Given the description of an element on the screen output the (x, y) to click on. 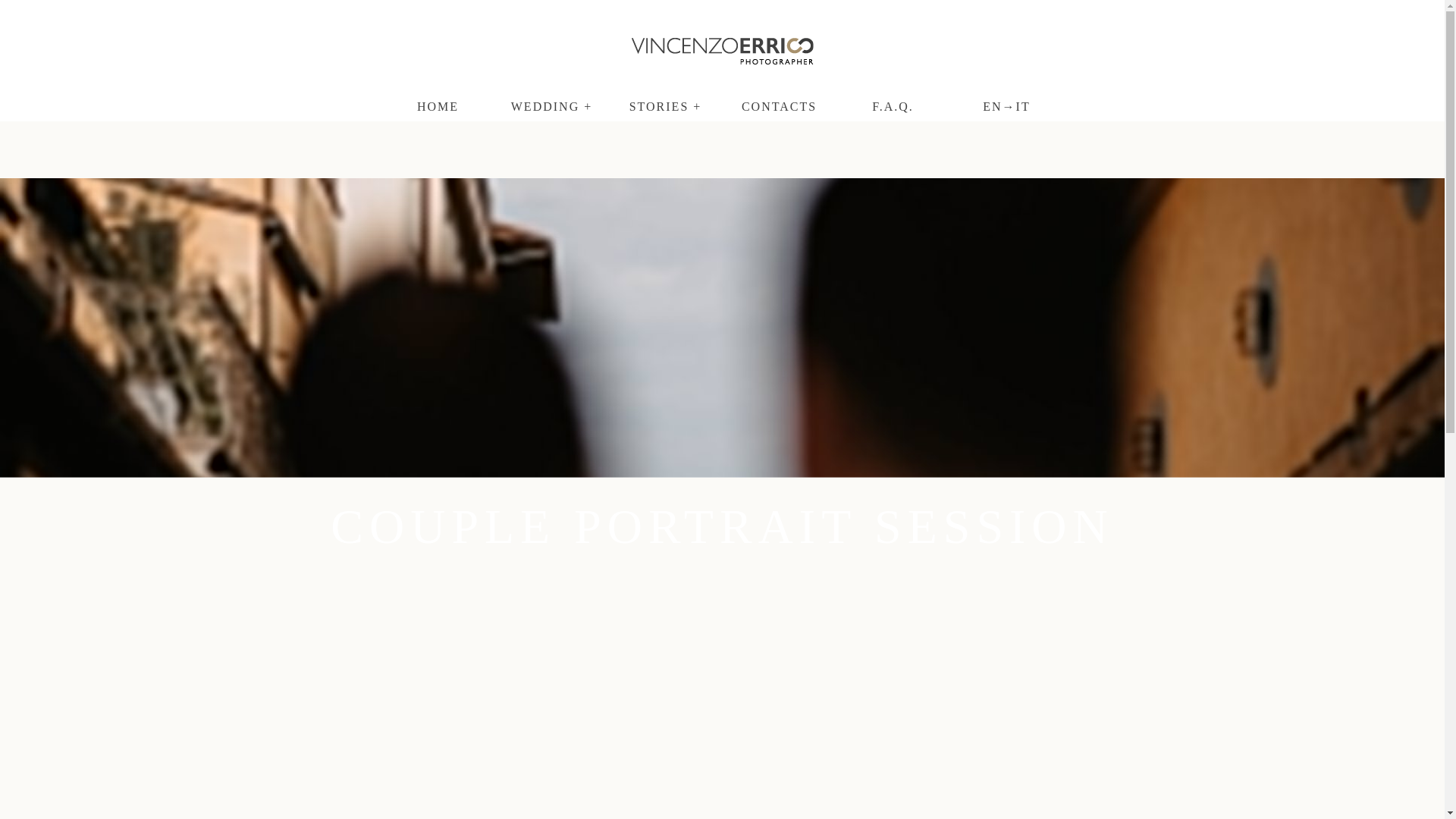
F.A.Q. (893, 106)
HOME (438, 106)
CONTACTS (779, 106)
VINCENZO ERRICO PHOTOGRAPHER (721, 50)
